Given the description of an element on the screen output the (x, y) to click on. 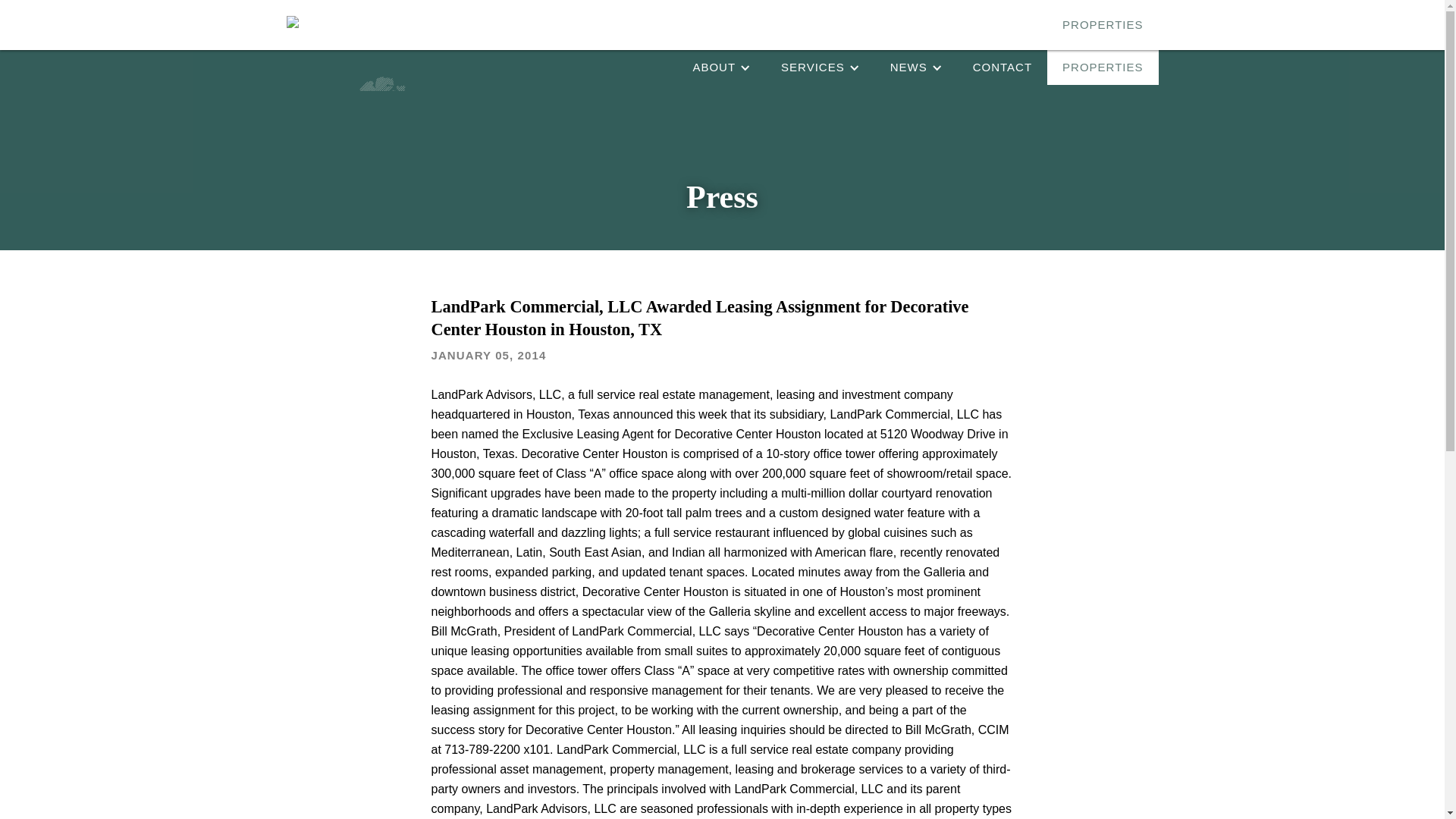
713-789-2200 (898, 17)
PROPERTIES (1101, 67)
TENANT LOGIN (1113, 17)
PROPERTIES (1101, 24)
CONTACT (1002, 24)
CONTACT (1002, 67)
INVESTOR LOGIN (1002, 17)
